Given the description of an element on the screen output the (x, y) to click on. 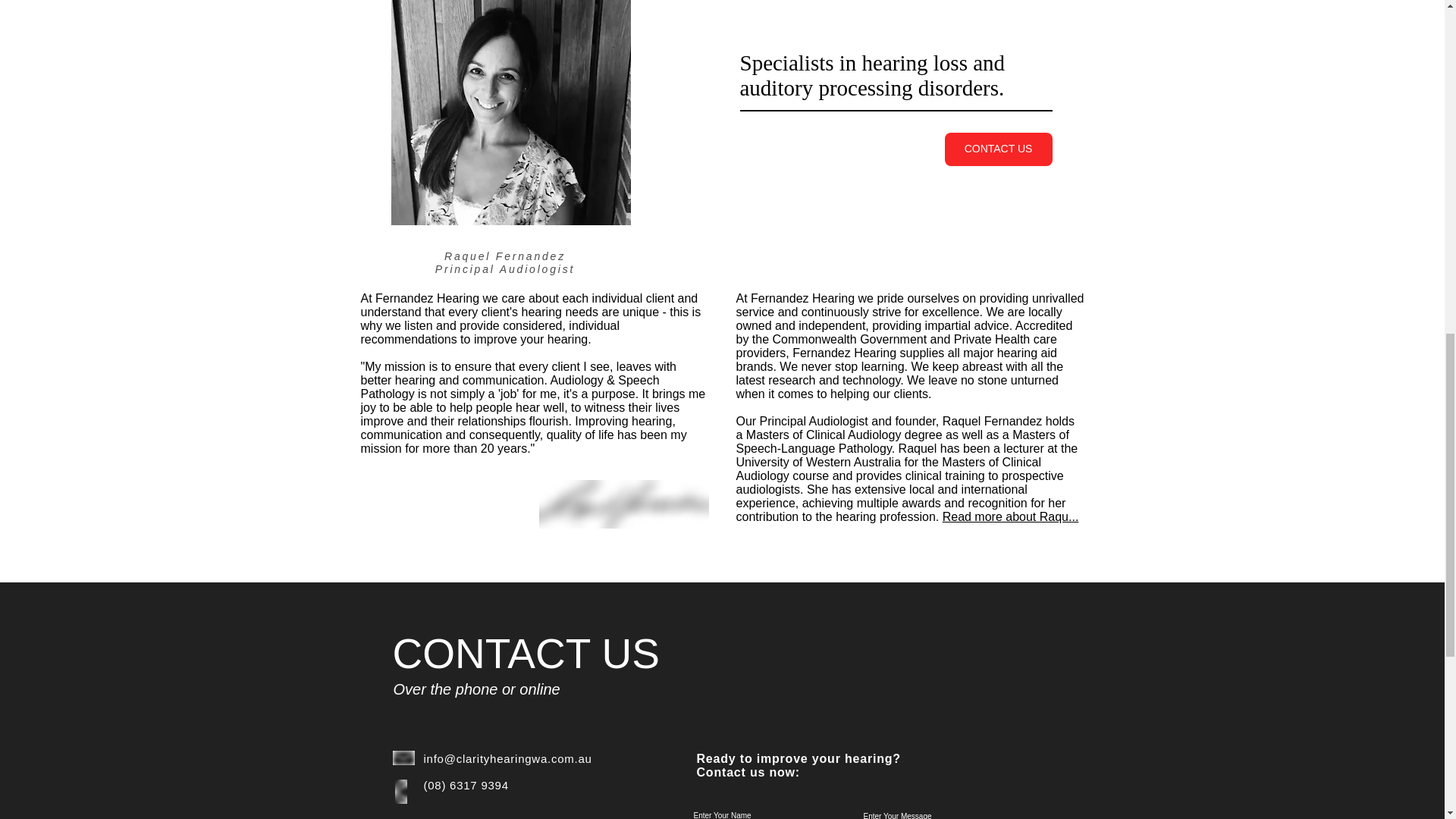
Read more about Raqu... (1010, 516)
CONTACT US (998, 149)
mail.png (403, 757)
